Given the description of an element on the screen output the (x, y) to click on. 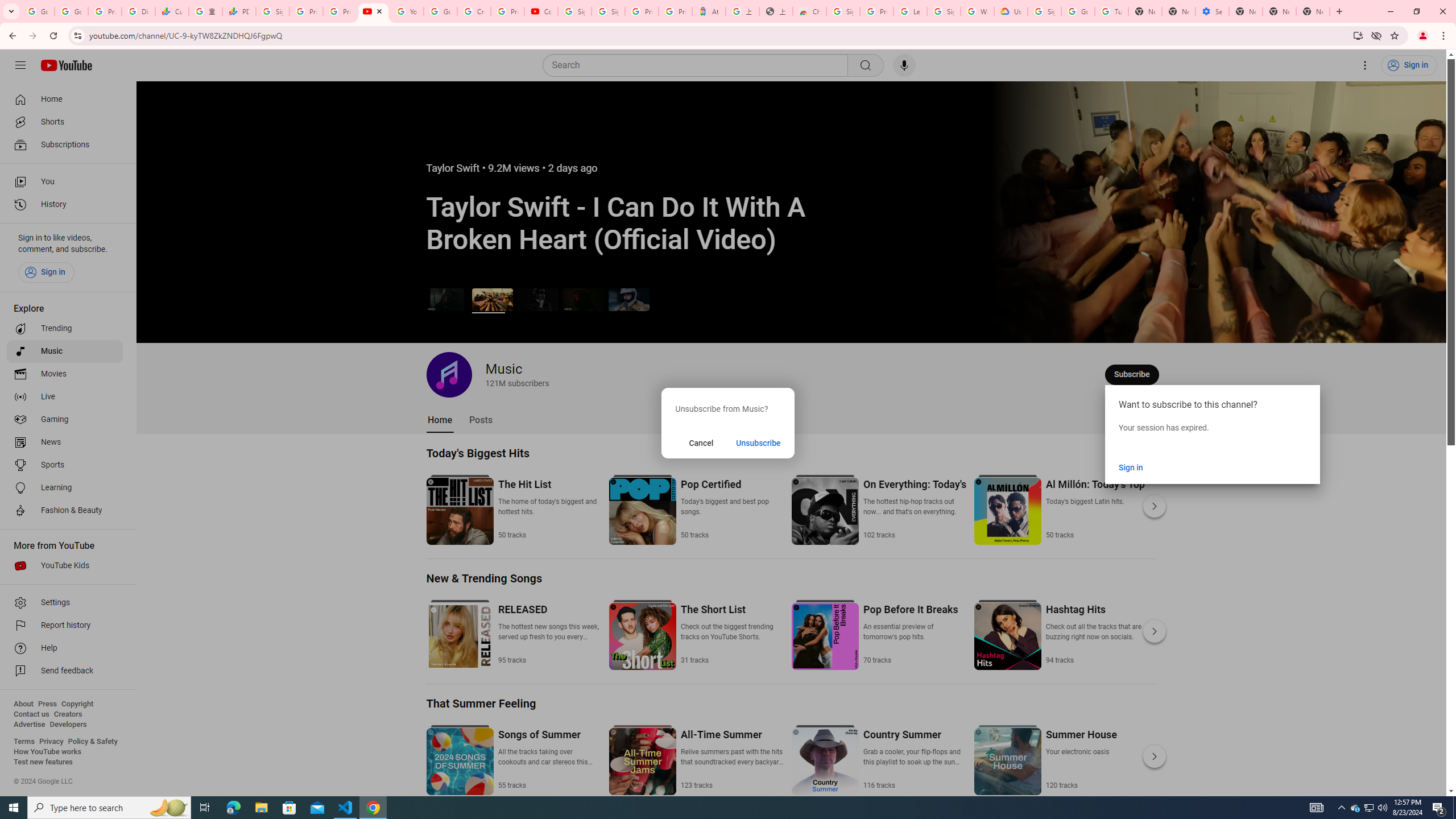
Creators (67, 714)
Pop Certified Today's biggest and best pop songs. 50 tracks (731, 508)
Currencies - Google Finance (171, 11)
Guide (20, 65)
That Summer Feeling (480, 703)
Today's Biggest Hits (477, 453)
Cancel (700, 442)
How YouTube works (47, 751)
